Given the description of an element on the screen output the (x, y) to click on. 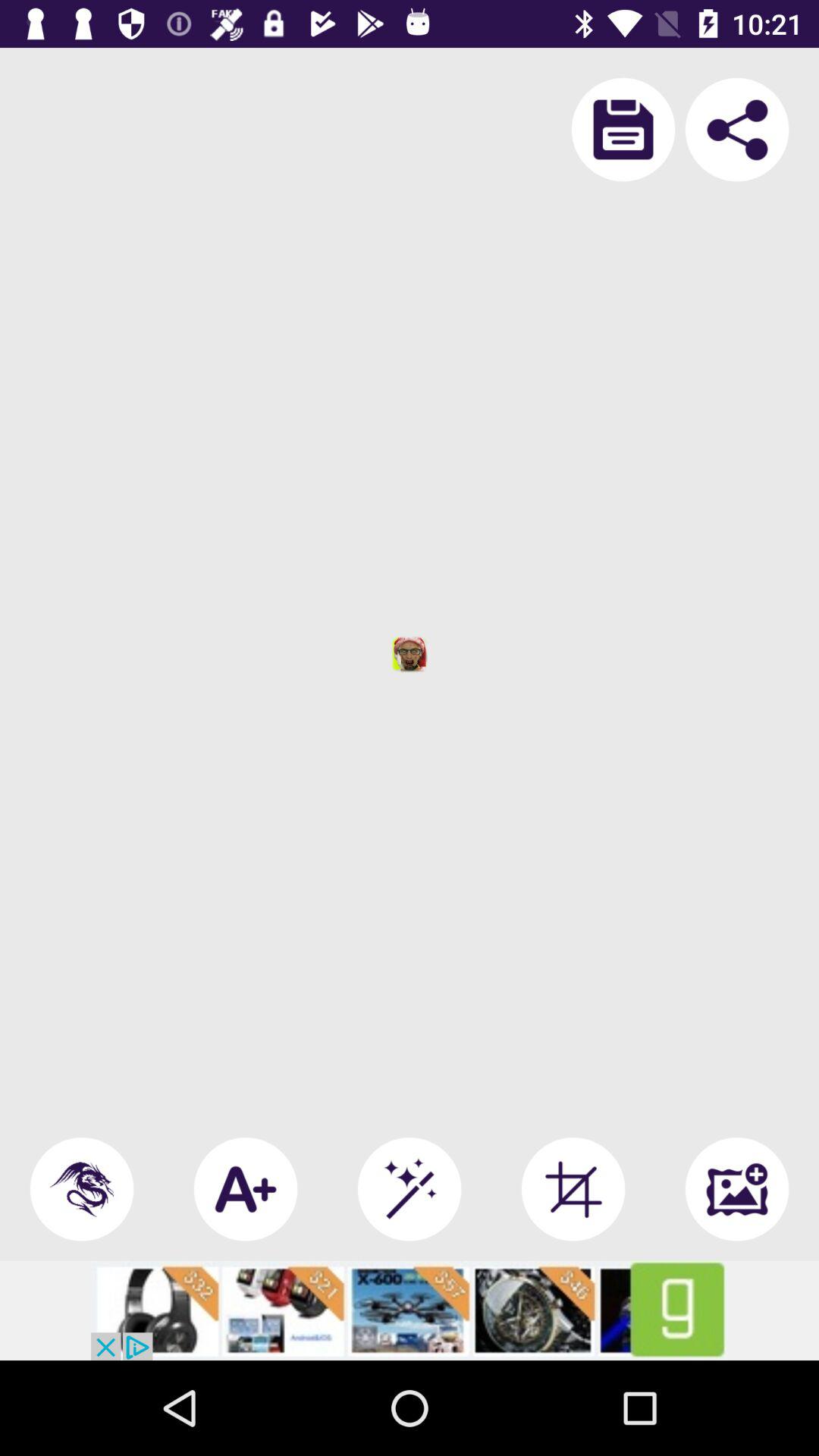
toggle advertisement (409, 1310)
